Given the description of an element on the screen output the (x, y) to click on. 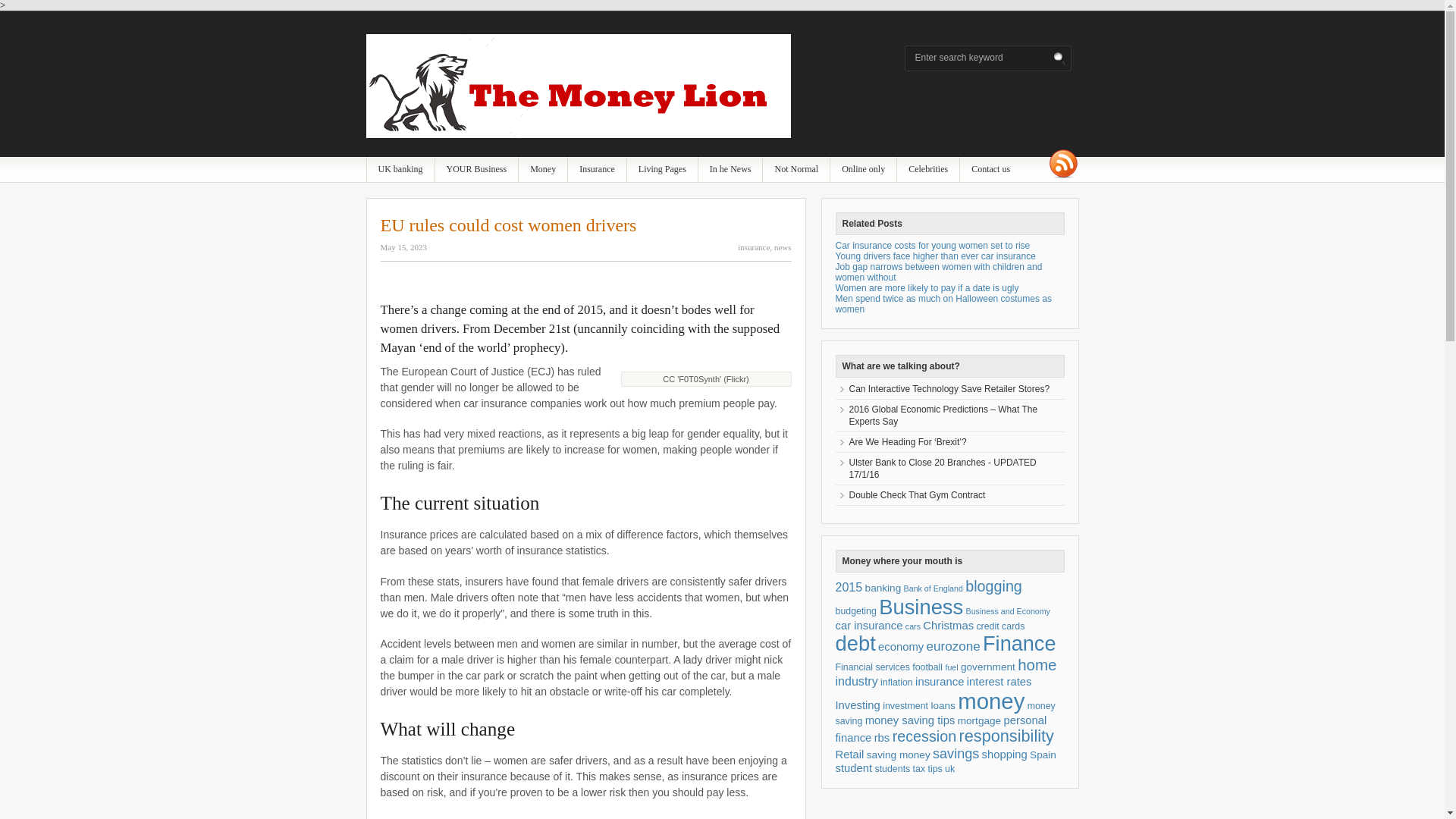
Contact us (990, 169)
celebrity (927, 169)
All the latest finance, business, money and legal news (577, 134)
banking (399, 169)
Money (542, 169)
finance (542, 169)
news (783, 246)
Living Pages (662, 169)
View all posts in insurance (754, 246)
news (730, 169)
In he News (730, 169)
lifestyle (662, 169)
View all posts in news (783, 246)
Enter search keyword (982, 57)
YOUR Business (476, 169)
